Given the description of an element on the screen output the (x, y) to click on. 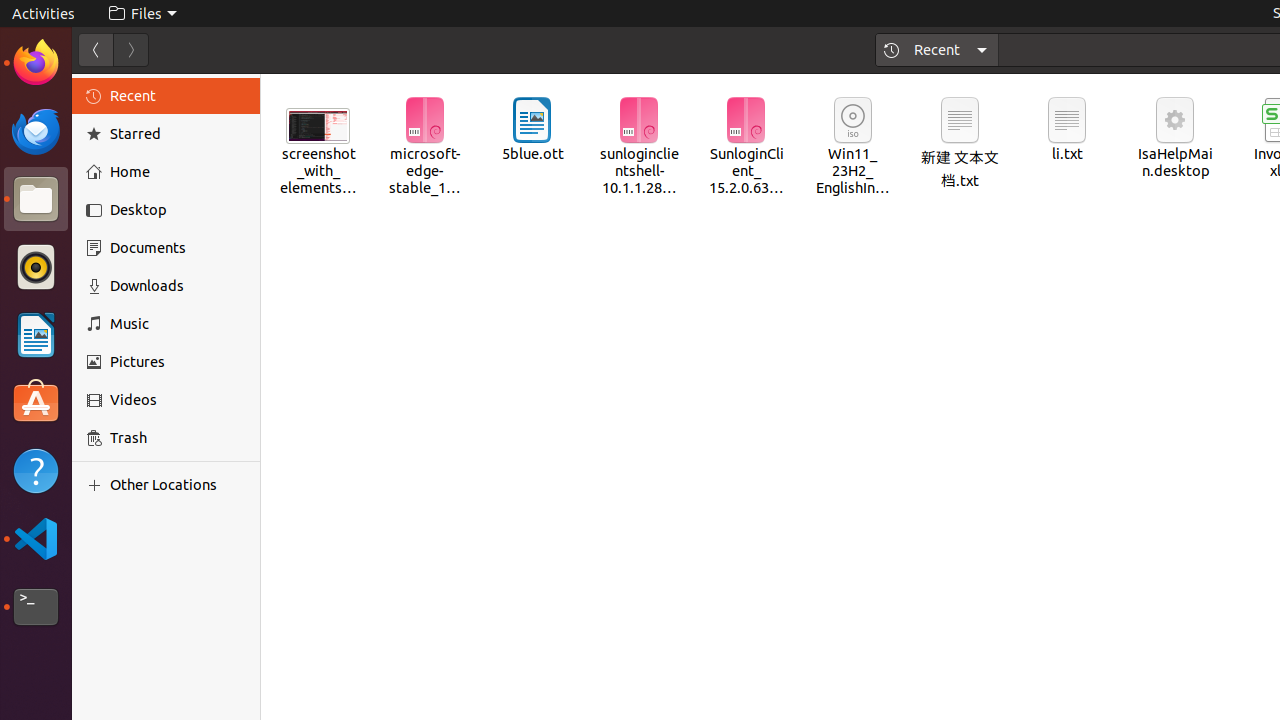
Downloads Element type: label (178, 286)
Documents Element type: label (178, 247)
5blue.ott Element type: canvas (532, 130)
